Given the description of an element on the screen output the (x, y) to click on. 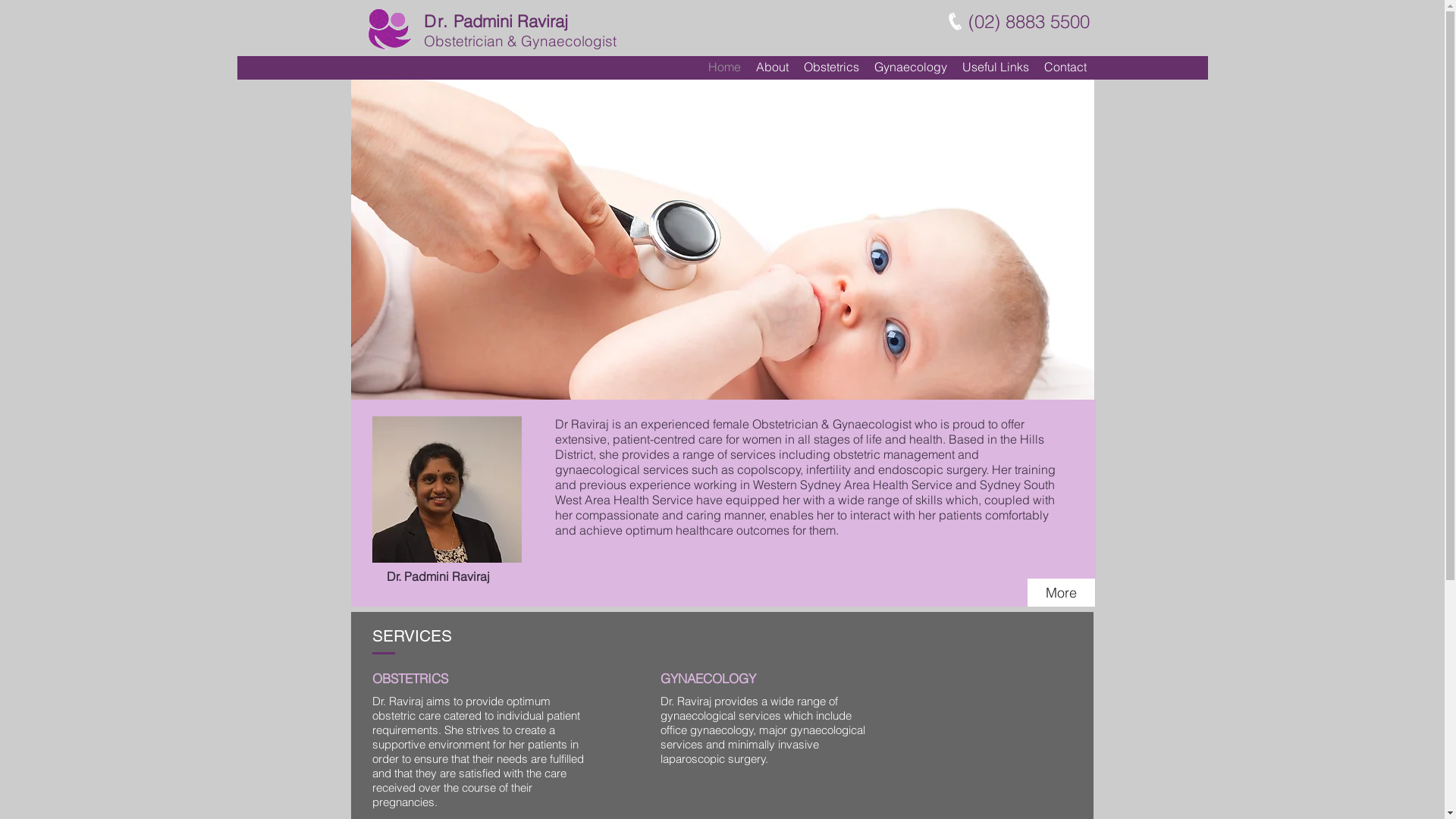
Gynaecology Element type: text (909, 66)
GYNAECOLOGY Element type: text (721, 678)
About Element type: text (771, 66)
Contact Element type: text (1064, 66)
DSC_0837.jpg Element type: hover (445, 489)
Dr. Element type: text (435, 20)
Obstetrics Element type: text (831, 66)
Obstetrician Element type: text (462, 40)
OBSTETRICS Element type: text (420, 678)
Home Element type: text (724, 66)
Useful Links Element type: text (994, 66)
More Element type: text (1060, 592)
